Given the description of an element on the screen output the (x, y) to click on. 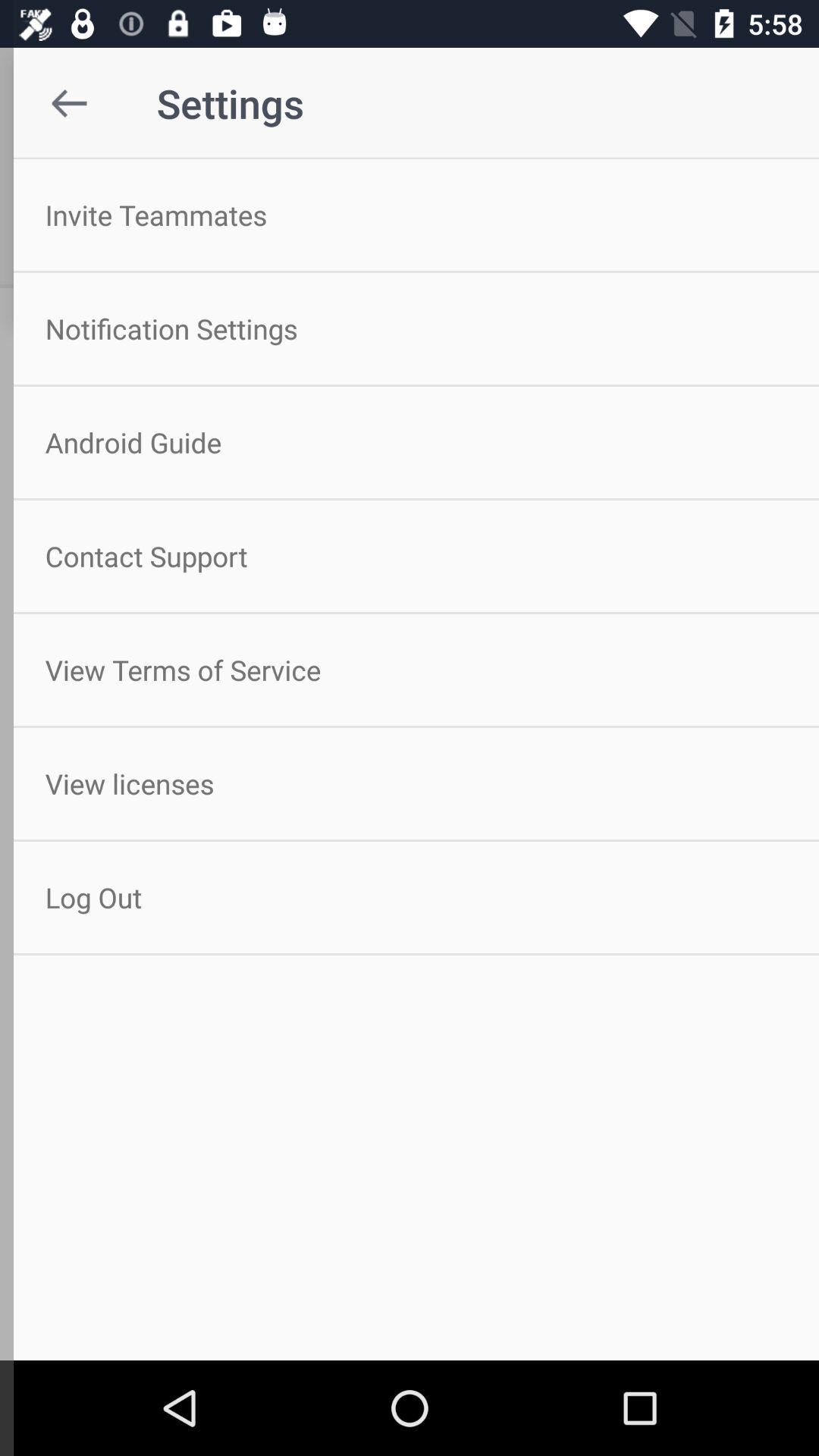
click the icon above view terms of item (409, 555)
